Given the description of an element on the screen output the (x, y) to click on. 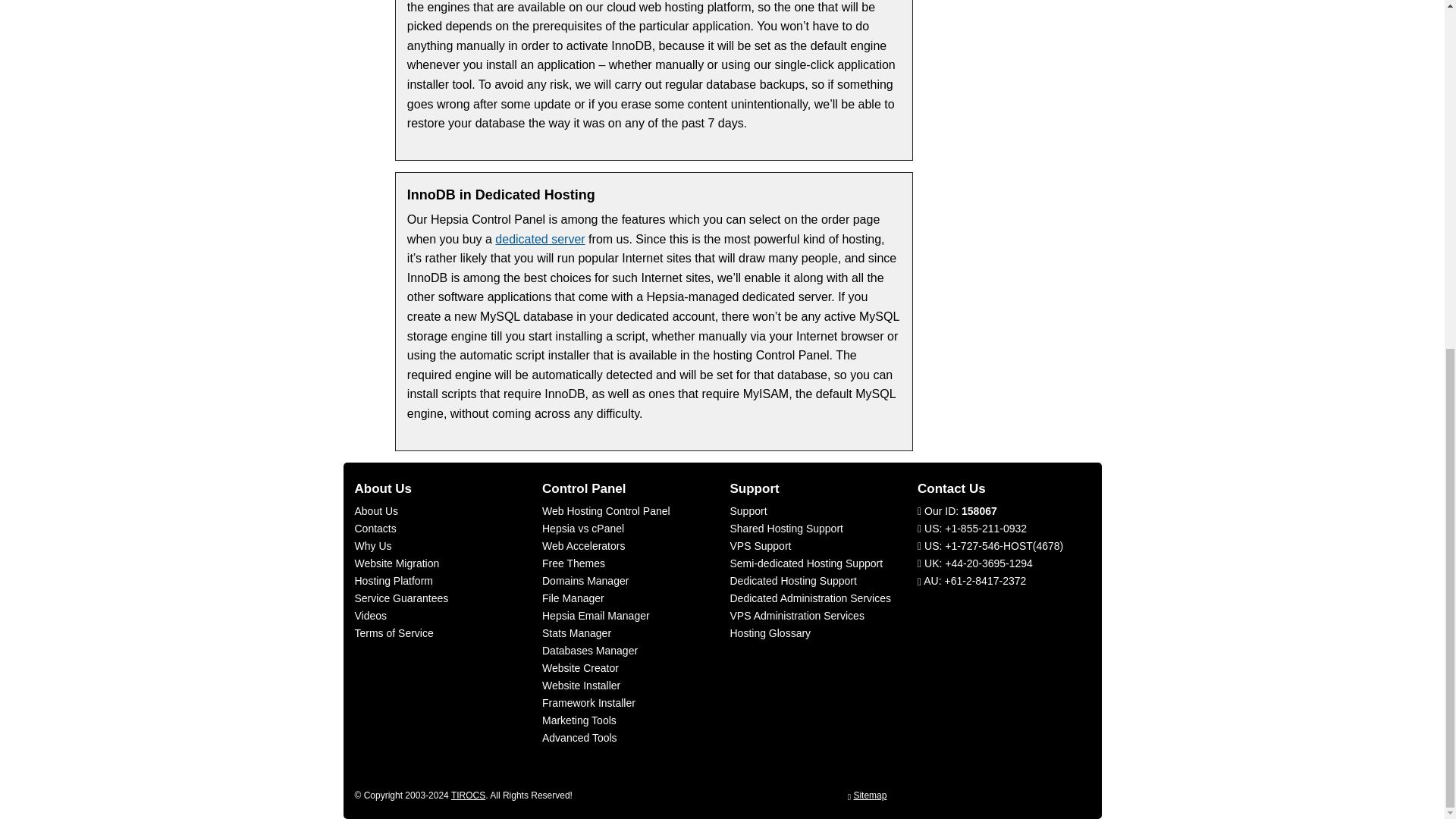
Linux dedicated hosting (540, 238)
